Given the description of an element on the screen output the (x, y) to click on. 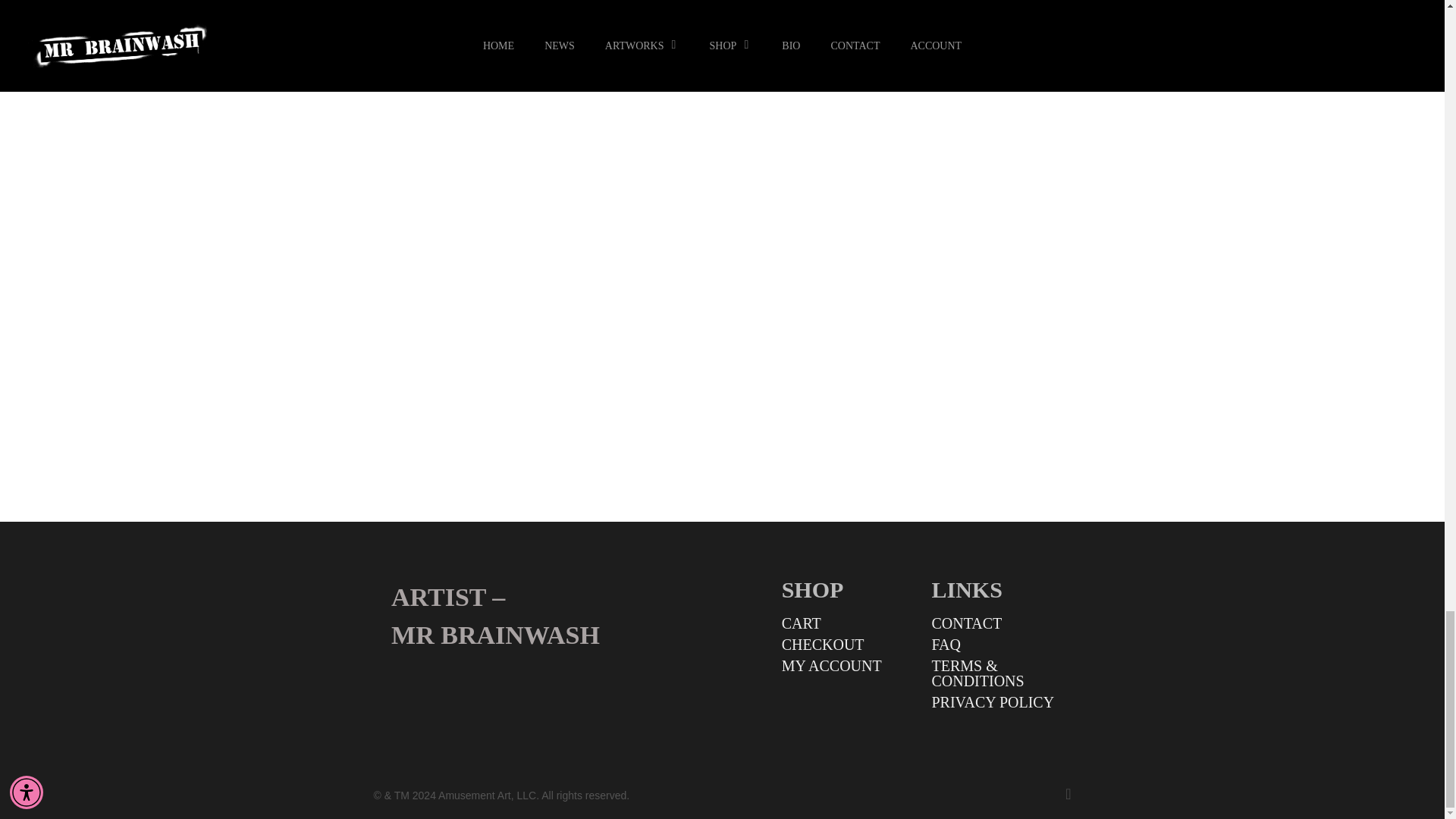
FAQ (999, 644)
CONTACT (999, 622)
CART (849, 622)
MY ACCOUNT (849, 665)
PRIVACY POLICY (999, 702)
CHECKOUT (849, 644)
